Given the description of an element on the screen output the (x, y) to click on. 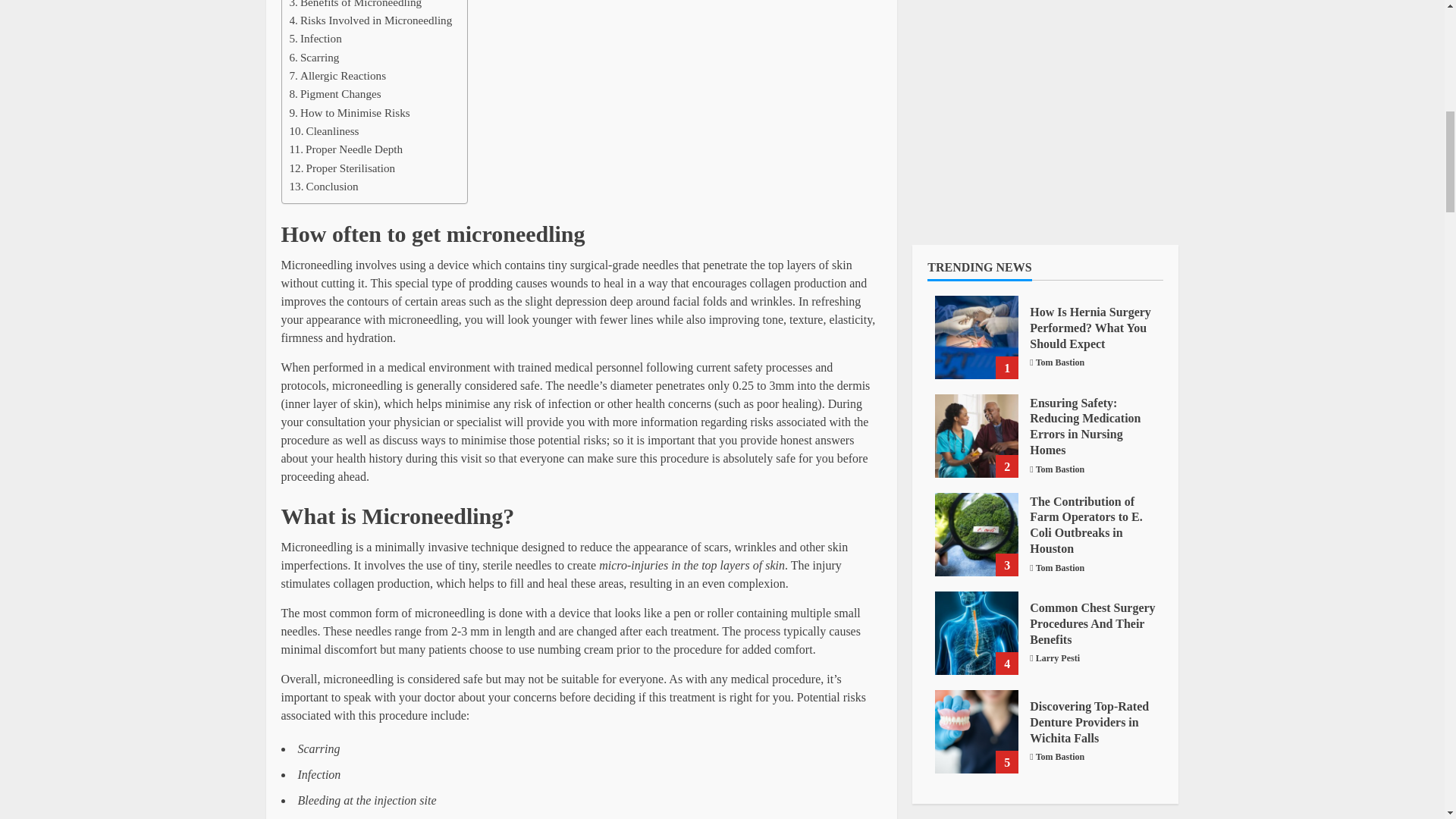
Allergic Reactions (338, 75)
Allergic Reactions (338, 75)
How to Minimise Risks (349, 113)
Conclusion (323, 186)
Proper Sterilisation (342, 167)
Scarring (314, 57)
Infection (315, 38)
Proper Needle Depth (346, 149)
Proper Needle Depth (346, 149)
Infection (315, 38)
